Given the description of an element on the screen output the (x, y) to click on. 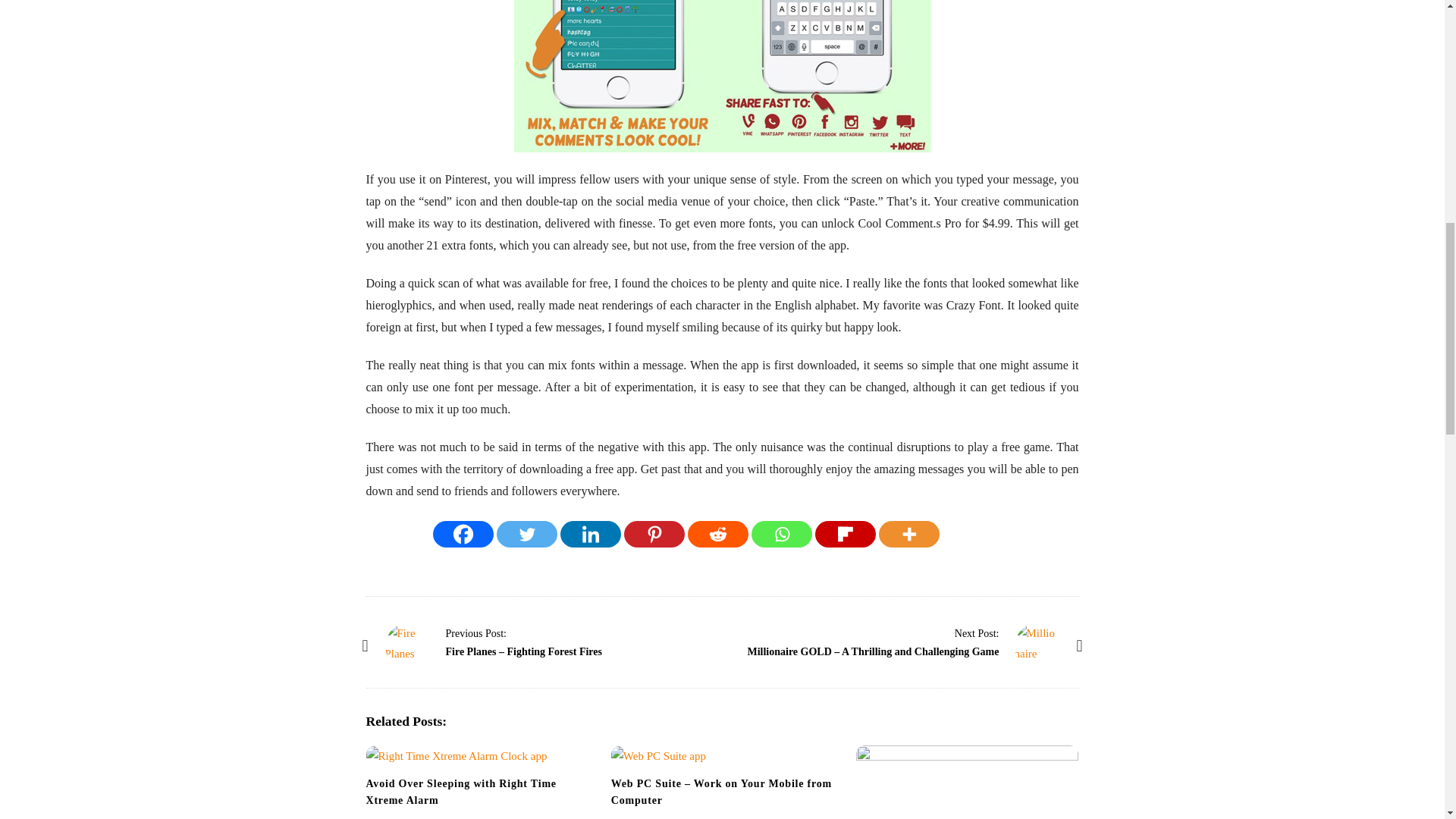
Flipboard (845, 533)
Previous Post: (475, 633)
Linkedin (590, 533)
Next Post: (976, 633)
Whatsapp (781, 533)
Reddit (717, 533)
Avoid Over Sleeping with Right Time Xtreme Alarm (460, 791)
Facebook (462, 533)
Pinterest (654, 533)
Twitter (526, 533)
